Given the description of an element on the screen output the (x, y) to click on. 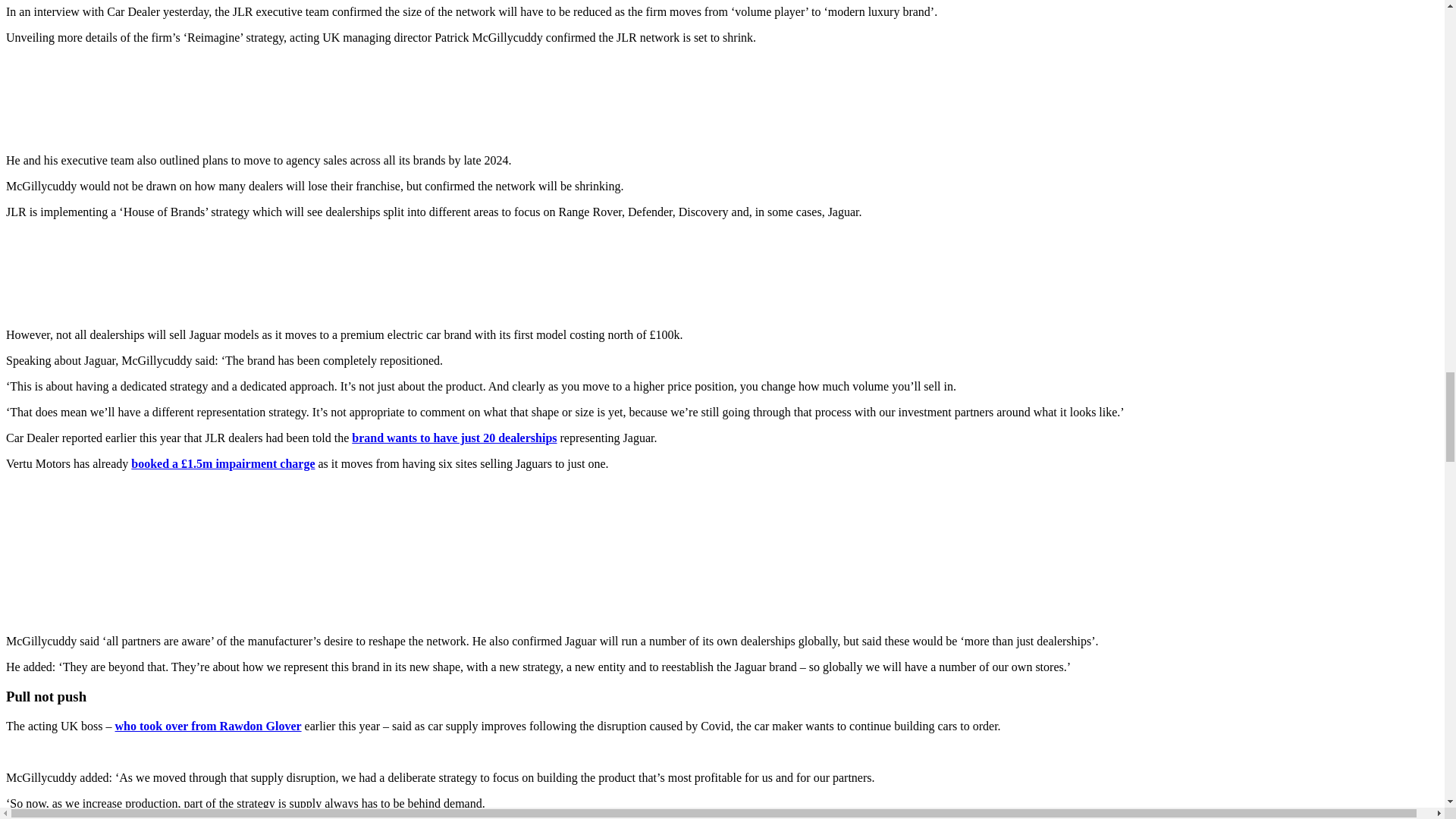
who took over from Rawdon Glover (208, 725)
brand wants to have just 20 dealerships (454, 437)
